Given the description of an element on the screen output the (x, y) to click on. 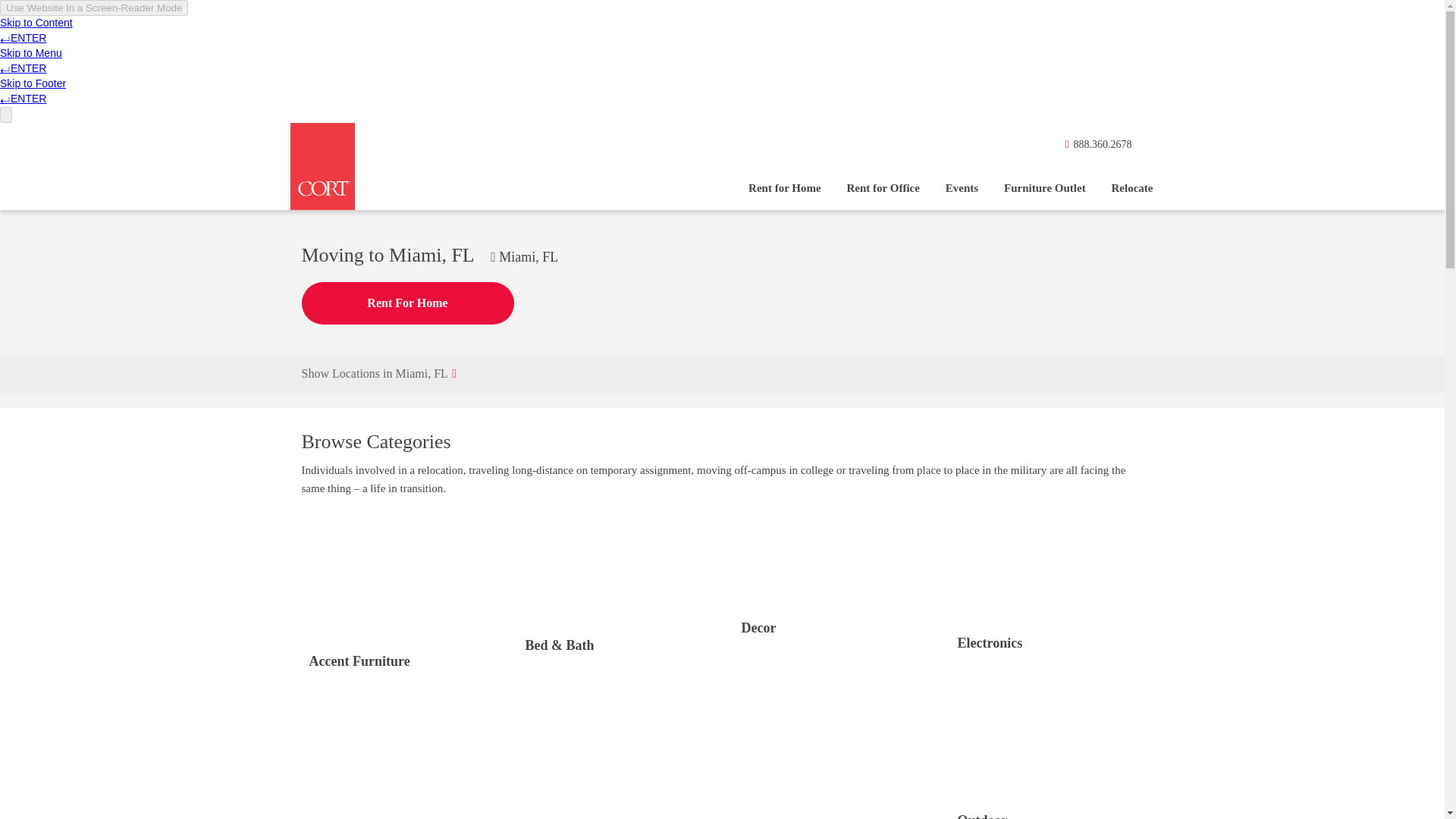
Show Locations in Miami, FL (722, 373)
888.360.2678 (1098, 151)
Events (961, 187)
Rent for Home (784, 187)
Furniture Outlet (1045, 187)
Rent For Home (407, 302)
Rent for Office (883, 187)
Relocate (1133, 187)
